Given the description of an element on the screen output the (x, y) to click on. 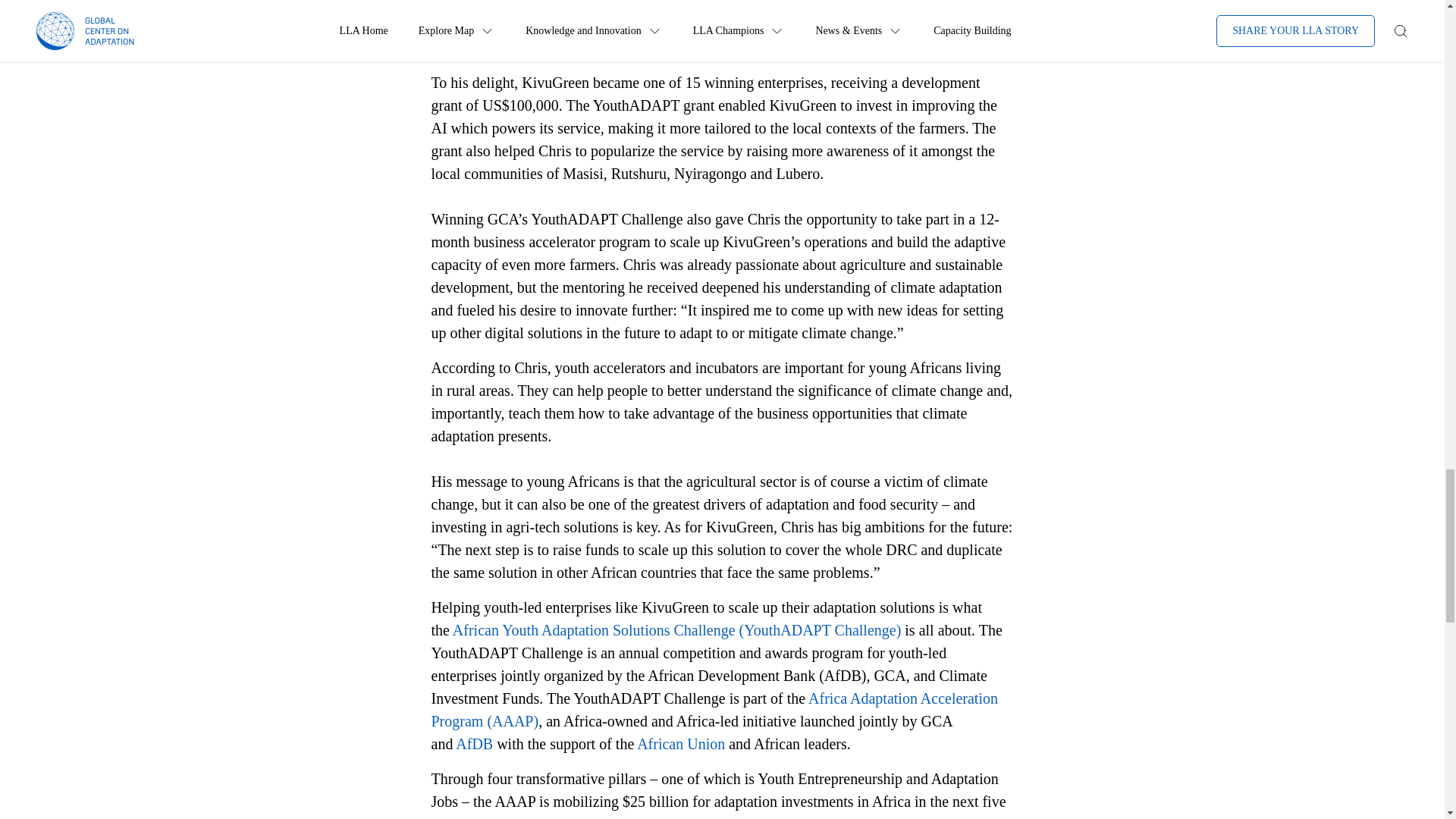
African Union (681, 743)
the African Development Bank (708, 24)
AfDB (474, 743)
